Given the description of an element on the screen output the (x, y) to click on. 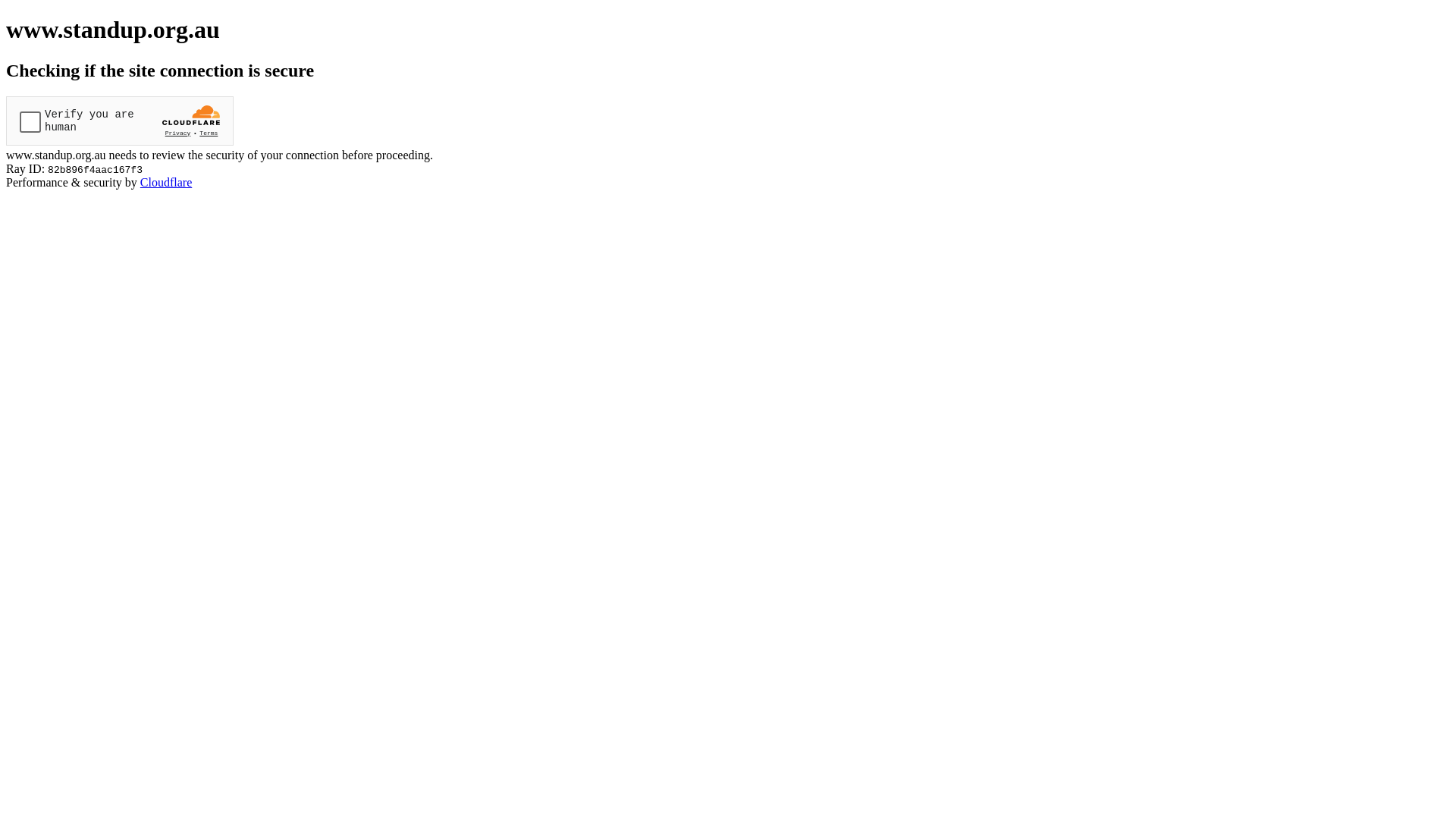
Widget containing a Cloudflare security challenge Element type: hover (119, 120)
Cloudflare Element type: text (165, 181)
